Given the description of an element on the screen output the (x, y) to click on. 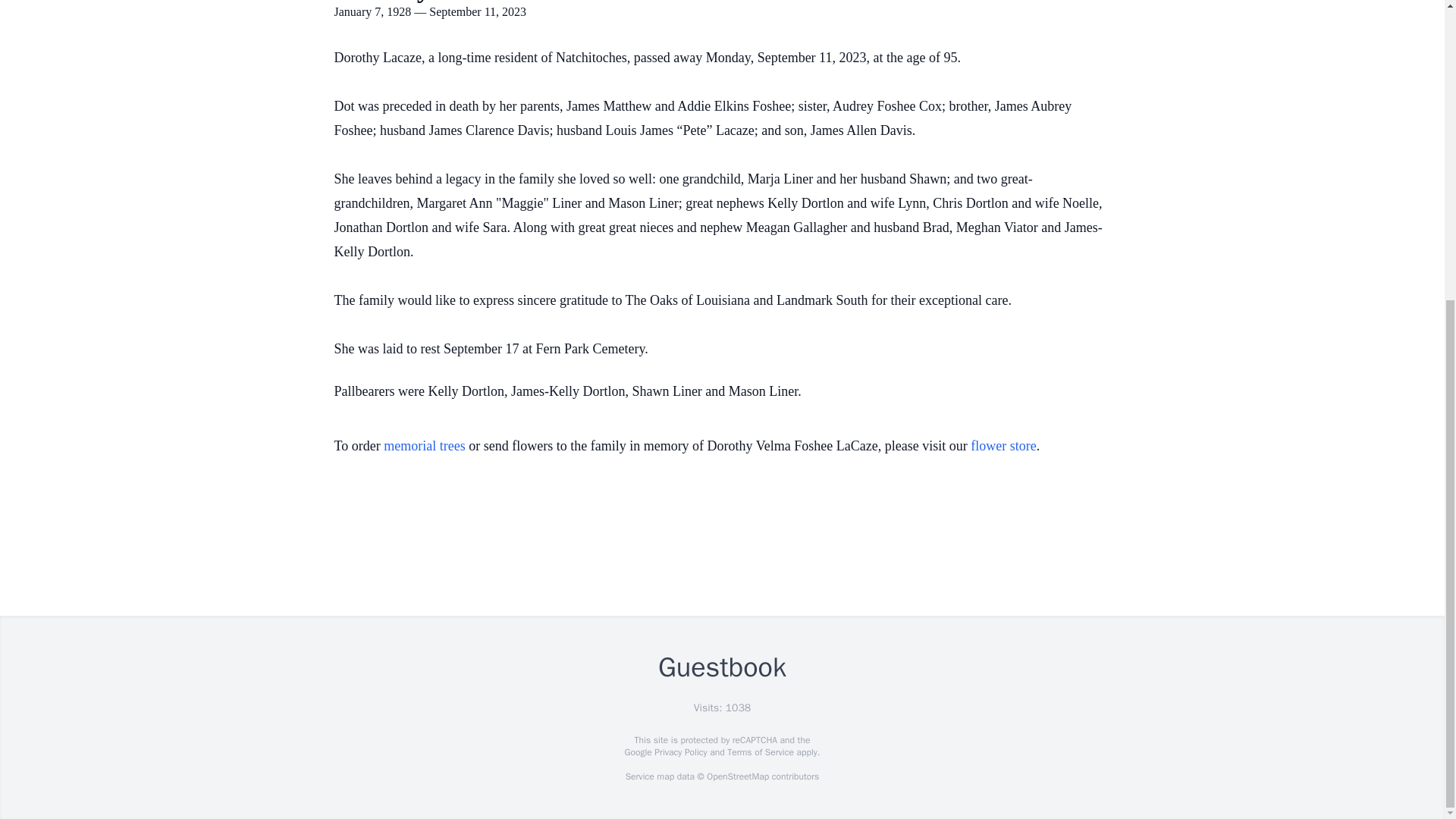
OpenStreetMap (737, 776)
flower store (1003, 445)
Terms of Service (759, 752)
memorial trees (424, 445)
Privacy Policy (679, 752)
